Given the description of an element on the screen output the (x, y) to click on. 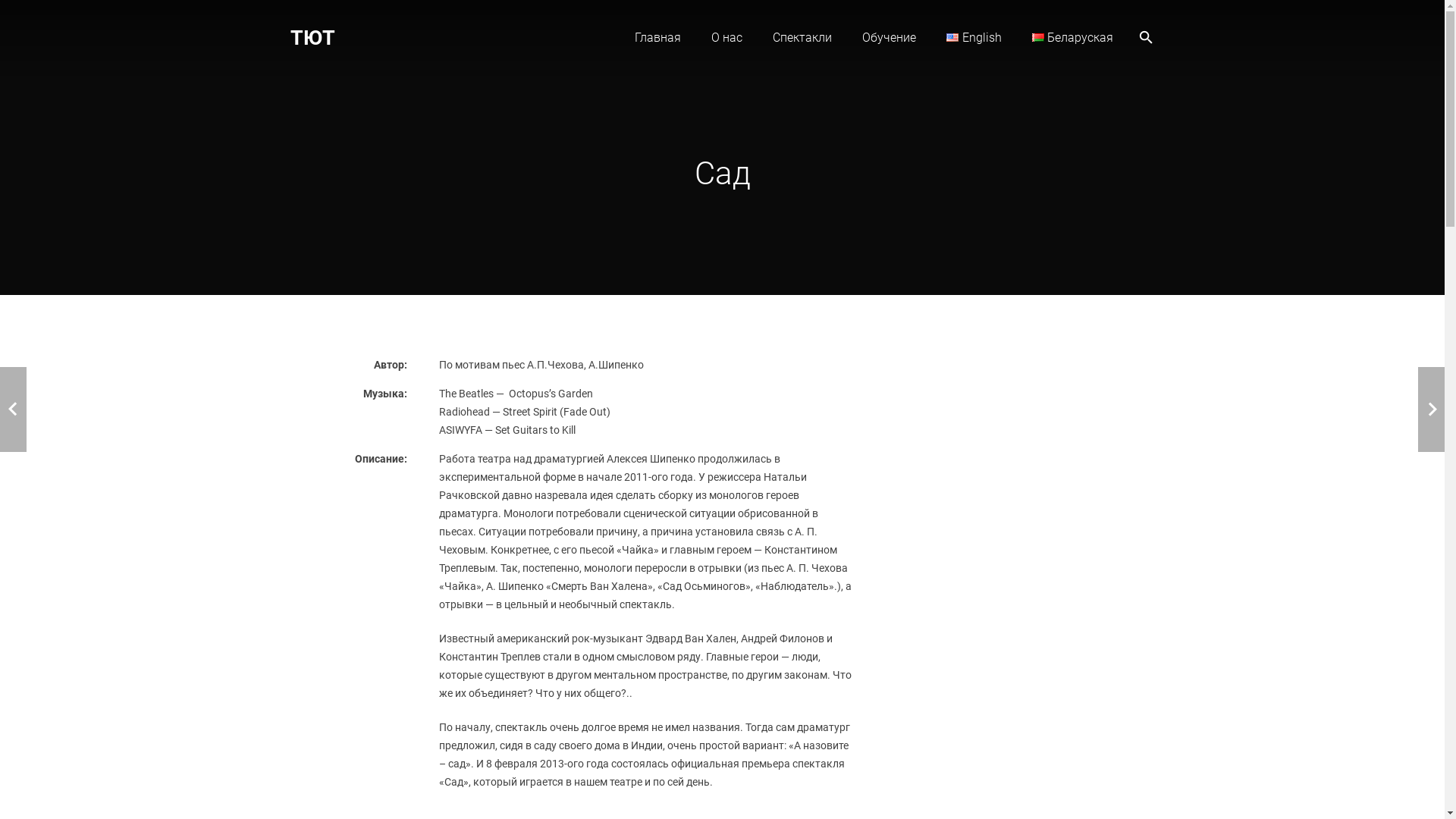
English Element type: text (973, 37)
English Element type: hover (952, 37)
